Given the description of an element on the screen output the (x, y) to click on. 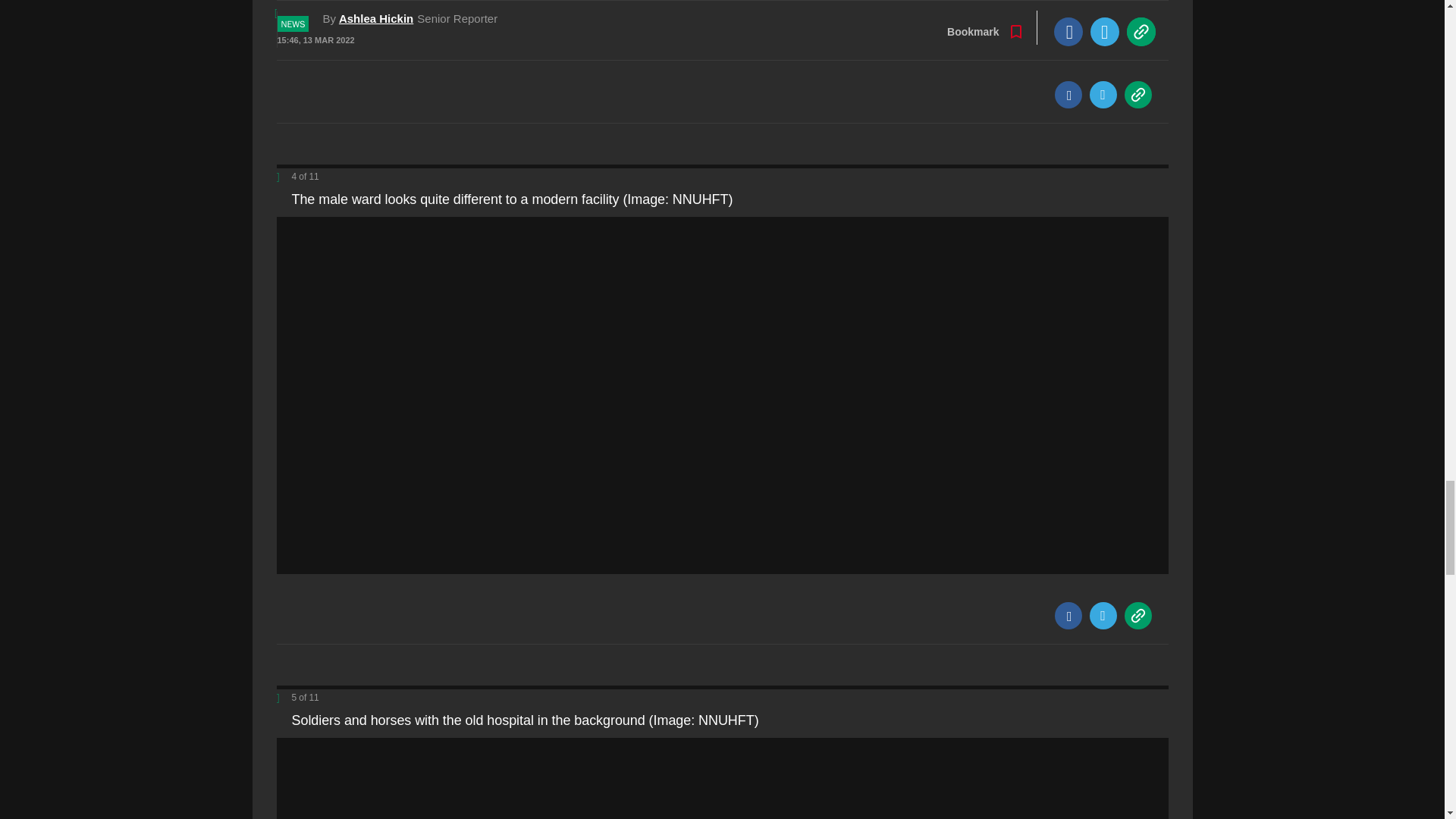
Twitter (1102, 94)
Facebook (1067, 94)
Twitter (1102, 615)
Facebook (1067, 615)
